Given the description of an element on the screen output the (x, y) to click on. 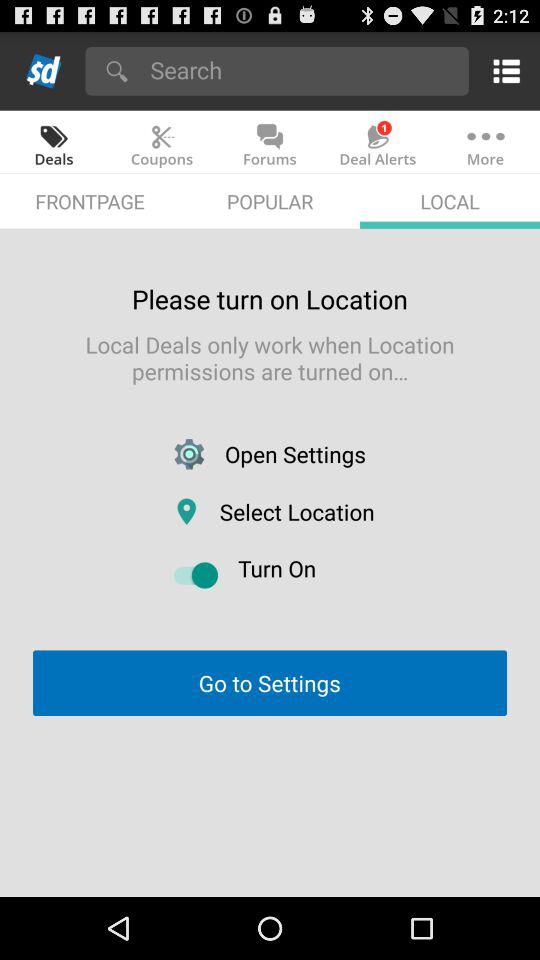
search slickdeals (302, 69)
